Given the description of an element on the screen output the (x, y) to click on. 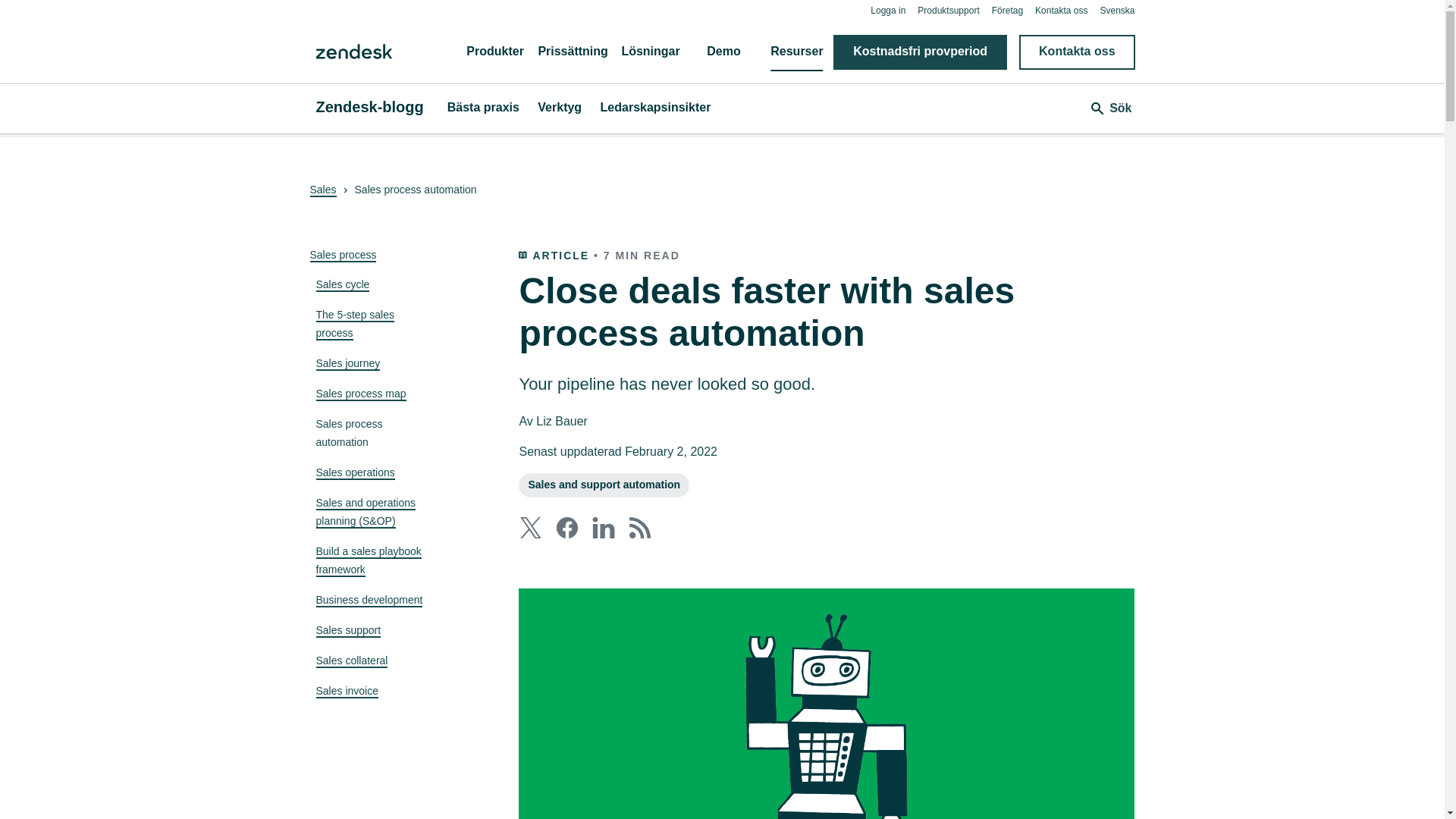
Kostnadsfri provperiod (919, 52)
Kontakta oss (1061, 9)
Produktsupport (947, 9)
Svenska (1116, 9)
Logga in (887, 9)
